Given the description of an element on the screen output the (x, y) to click on. 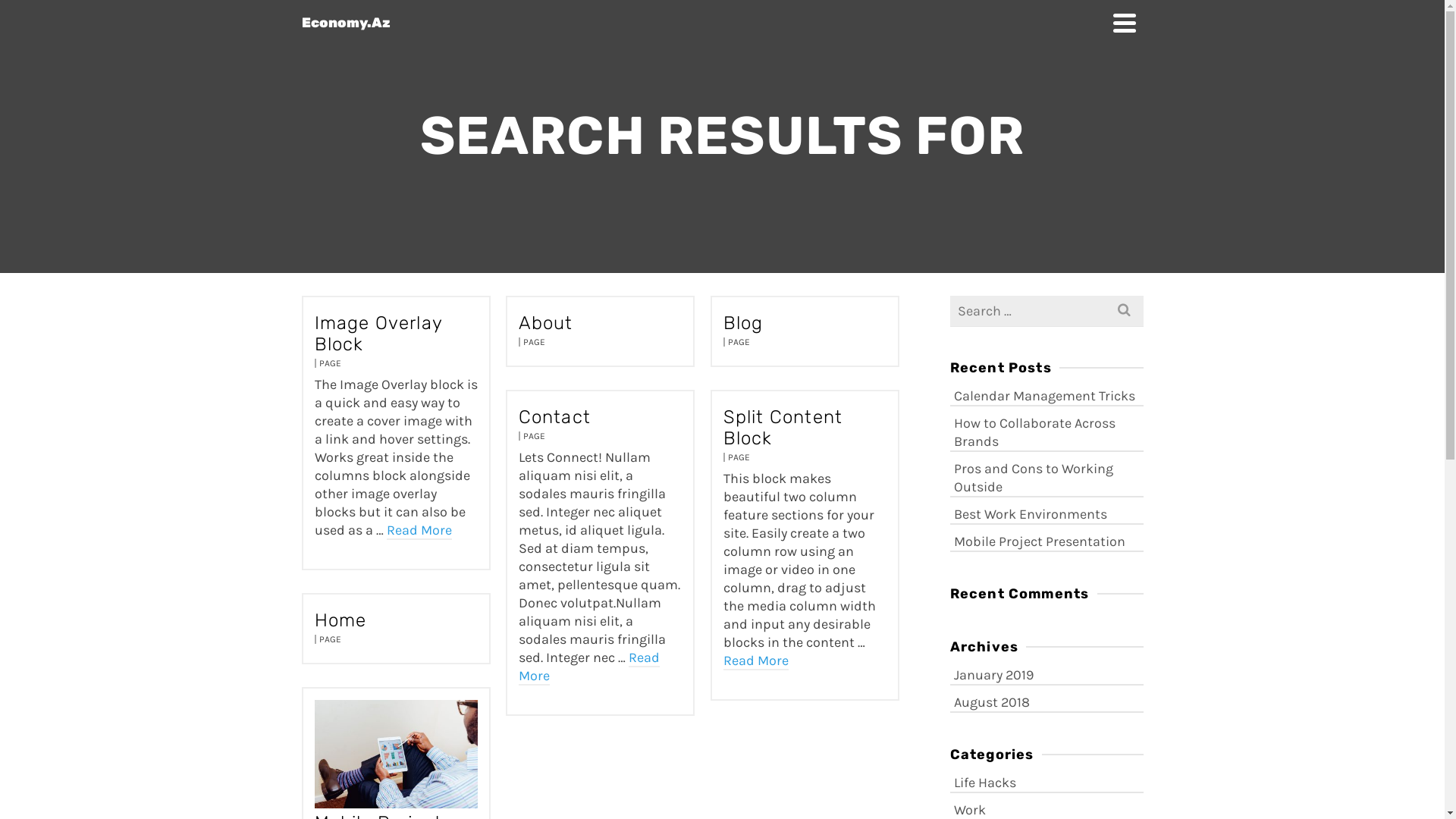
Read More Element type: text (588, 667)
January 2019 Element type: text (1045, 673)
Life Hacks Element type: text (1045, 781)
Read More Element type: text (755, 661)
Mobile Project Presentation Element type: text (1045, 540)
Read More Element type: text (418, 530)
Contact Element type: text (600, 416)
About Element type: text (600, 322)
Best Work Environments Element type: text (1045, 512)
Split Content Block Element type: text (805, 427)
Blog Element type: text (805, 322)
Calendar Management Tricks Element type: text (1045, 394)
Home Element type: text (395, 619)
Economy.Az Element type: text (703, 22)
Image Overlay Block Element type: text (395, 333)
How to Collaborate Across Brands Element type: text (1045, 430)
August 2018 Element type: text (1045, 700)
Pros and Cons to Working Outside Element type: text (1045, 476)
